Given the description of an element on the screen output the (x, y) to click on. 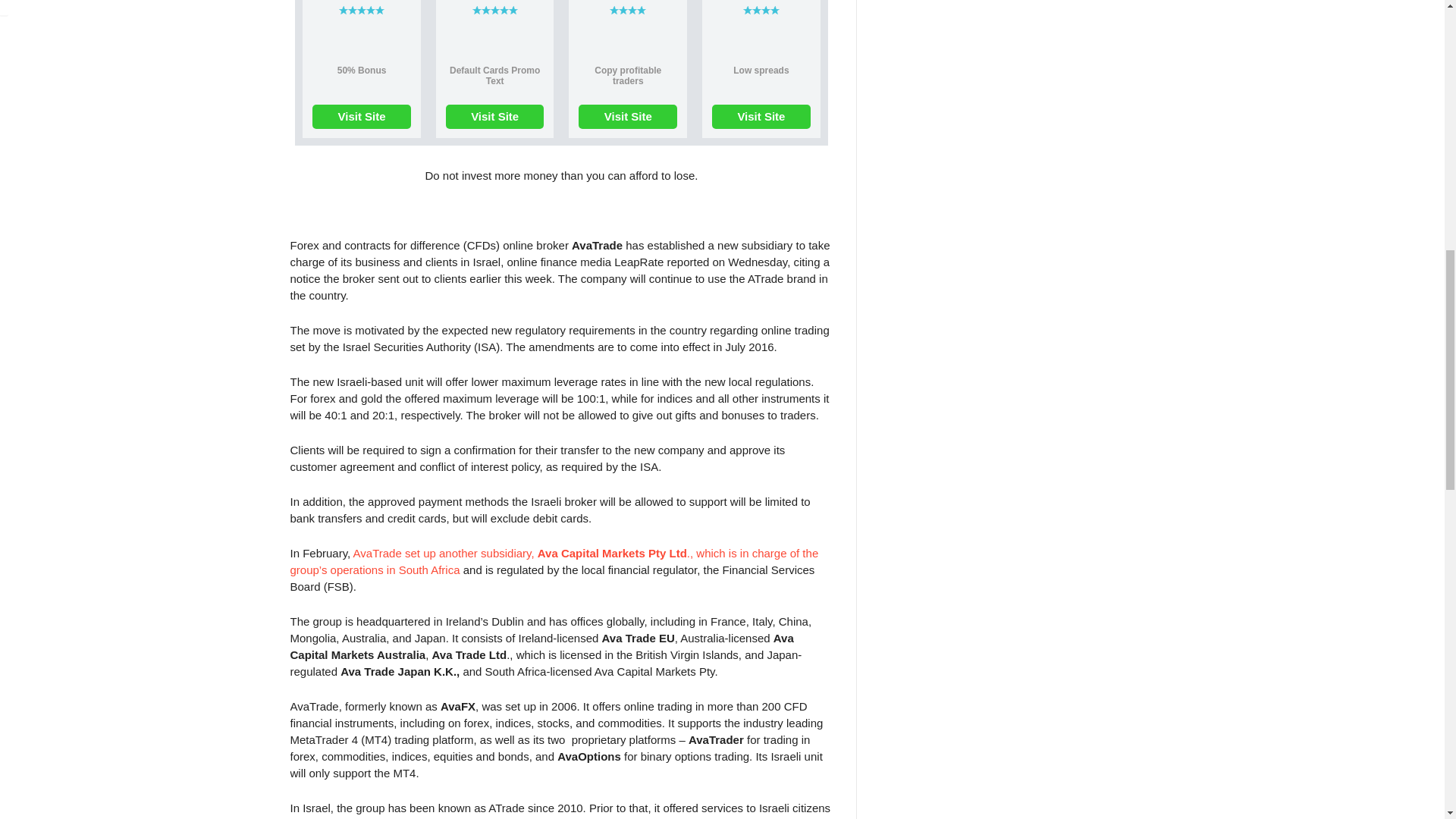
Visit Site (494, 116)
Visit Site (361, 116)
Visit Site (361, 116)
Visit Site (627, 116)
Visit Site (760, 116)
